Given the description of an element on the screen output the (x, y) to click on. 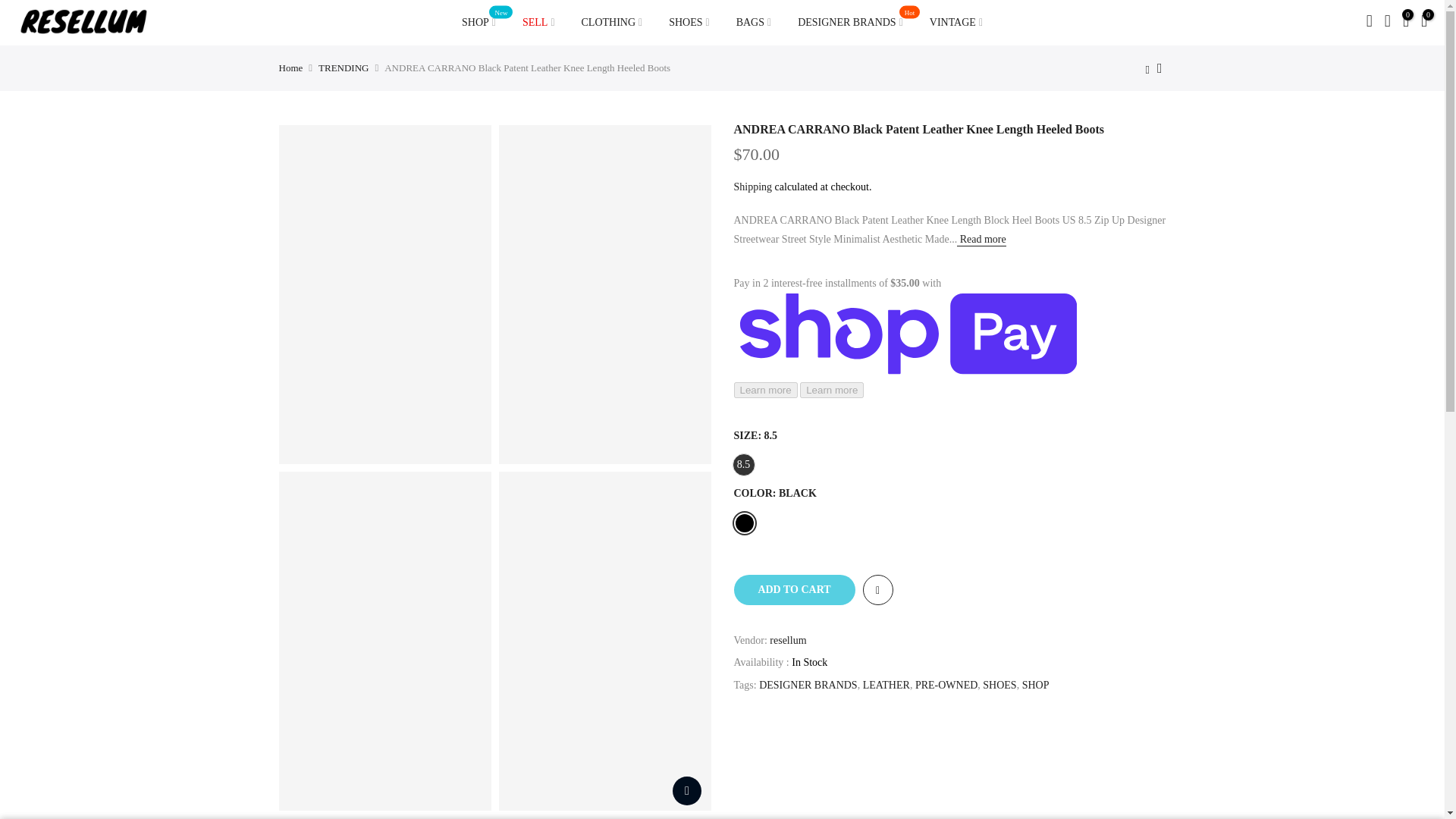
Read more (981, 239)
SHOES (999, 685)
SELL (537, 22)
Home (290, 68)
SHOP (1035, 685)
PRE-OWNED (478, 22)
0 (850, 22)
Shipping (945, 685)
